Given the description of an element on the screen output the (x, y) to click on. 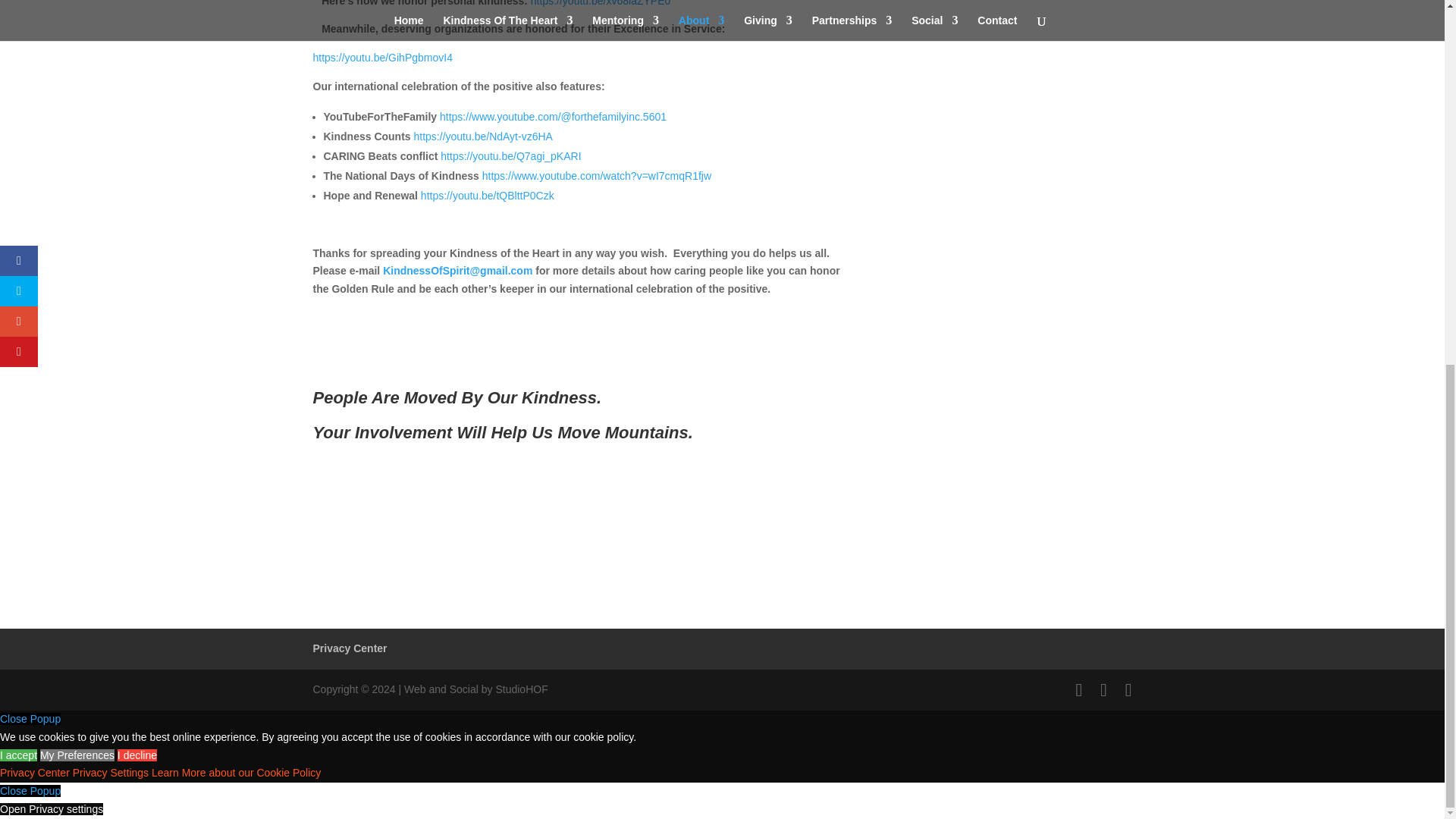
Give (722, 548)
Privacy Center (350, 648)
close (30, 790)
